Given the description of an element on the screen output the (x, y) to click on. 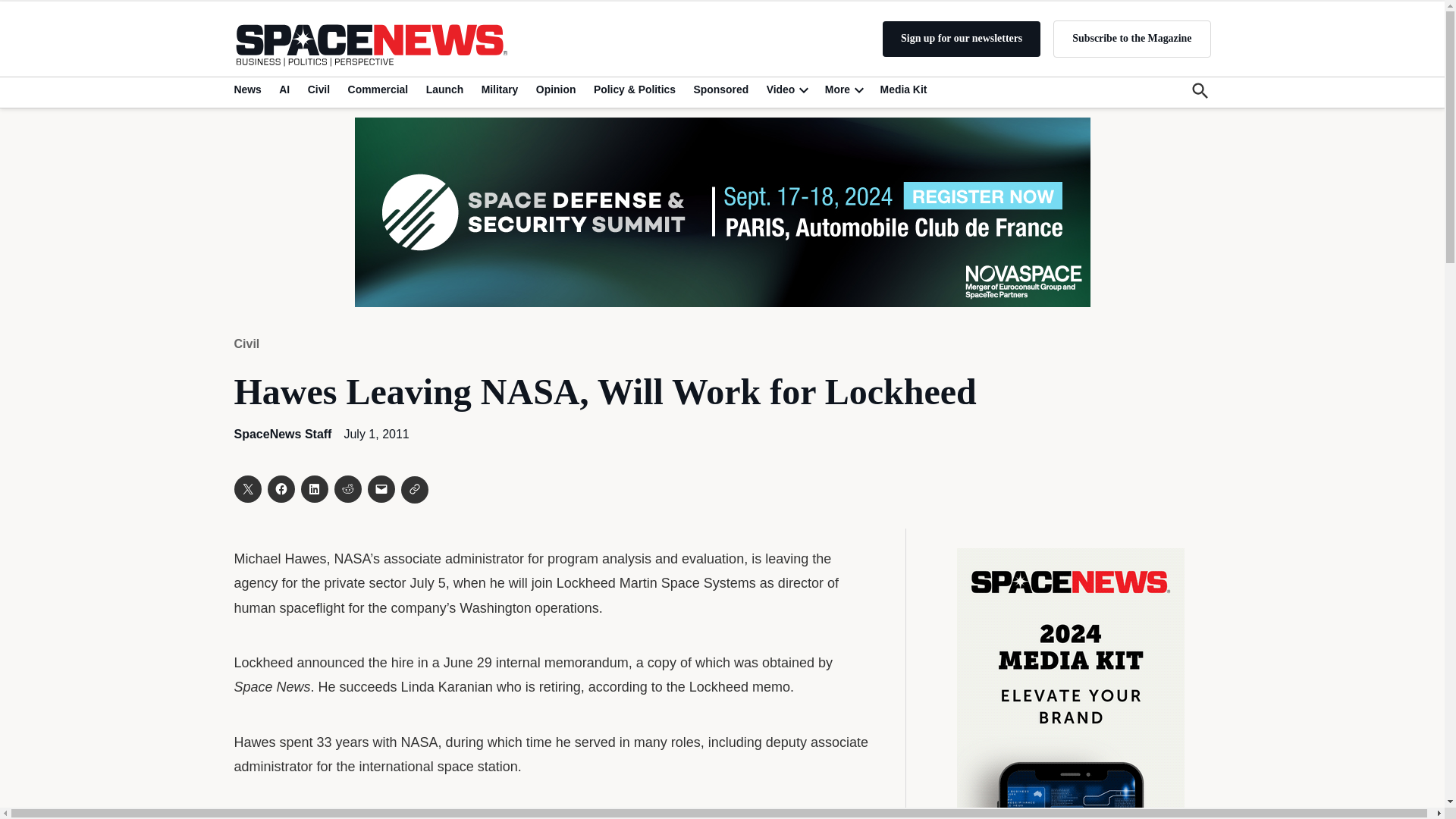
Click to share on Reddit (347, 488)
Subscribe to the Magazine (1130, 38)
Click to share on LinkedIn (313, 488)
Click to email a link to a friend (380, 488)
Click to share on Facebook (280, 488)
News (249, 89)
Sign up for our newsletters (961, 38)
AI (284, 89)
Click to share on Clipboard (414, 489)
Civil (318, 89)
Click to share on X (246, 488)
